Given the description of an element on the screen output the (x, y) to click on. 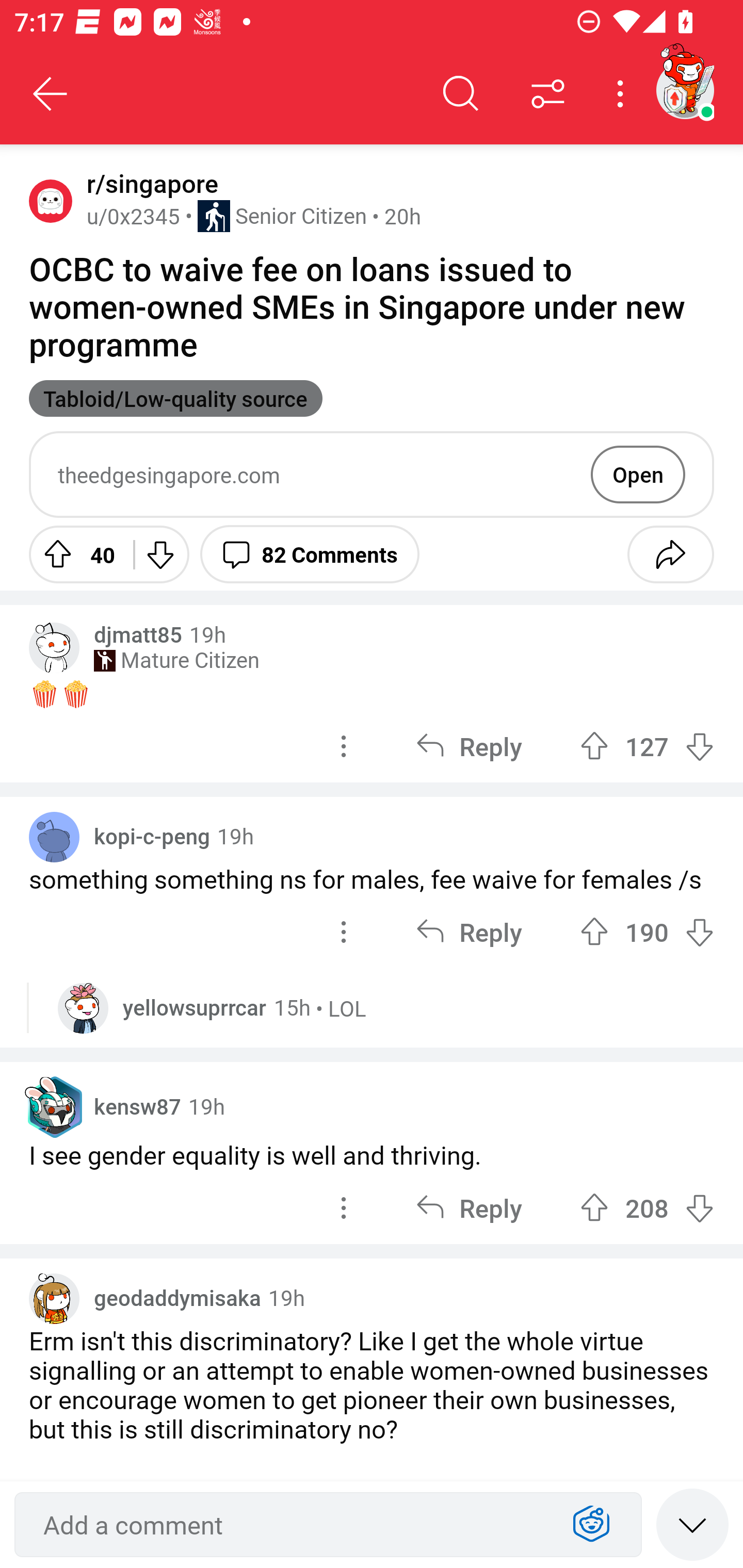
Back (50, 93)
TestAppium002 account (685, 90)
Search comments (460, 93)
Sort comments (547, 93)
More options (623, 93)
r/singapore (148, 183)
Avatar (50, 200)
Tabloid/Low-quality source (175, 398)
theedgesingapore.com Open (371, 474)
Open (637, 474)
Upvote 40 (73, 554)
Downvote (158, 554)
82 Comments (309, 554)
Share (670, 554)
Custom avatar (53, 647)
￼ Mature Citizen (176, 659)
🍿🍿 (371, 692)
options (343, 746)
Reply (469, 746)
Upvote 127 127 votes Downvote (647, 746)
Avatar (53, 837)
options (343, 931)
Reply (469, 931)
Upvote 190 190 votes Downvote (647, 931)
Custom avatar (82, 1008)
I see gender equality is well and thriving. (371, 1154)
options (343, 1207)
Reply (469, 1207)
Upvote 208 208 votes Downvote (647, 1207)
Custom avatar (53, 1298)
Speed read (692, 1524)
Add a comment (291, 1524)
Show Expressions (590, 1524)
